Given the description of an element on the screen output the (x, y) to click on. 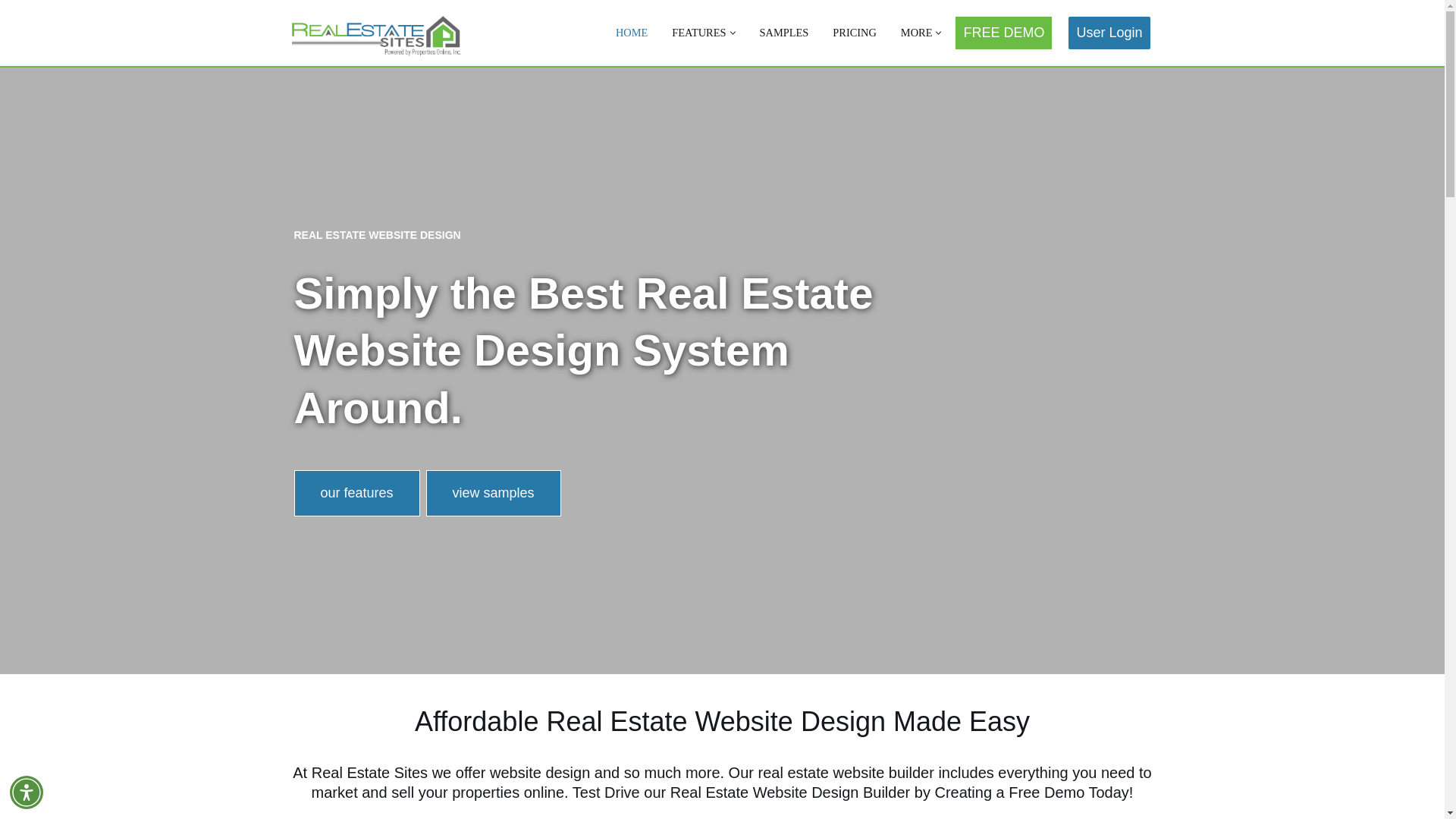
FEATURES (698, 32)
Skip to content (11, 31)
User Login (1108, 32)
PRICING (854, 32)
SAMPLES (784, 32)
Accessibility Menu (26, 792)
HOME (631, 32)
MORE (917, 32)
FREE DEMO (1003, 32)
